Given the description of an element on the screen output the (x, y) to click on. 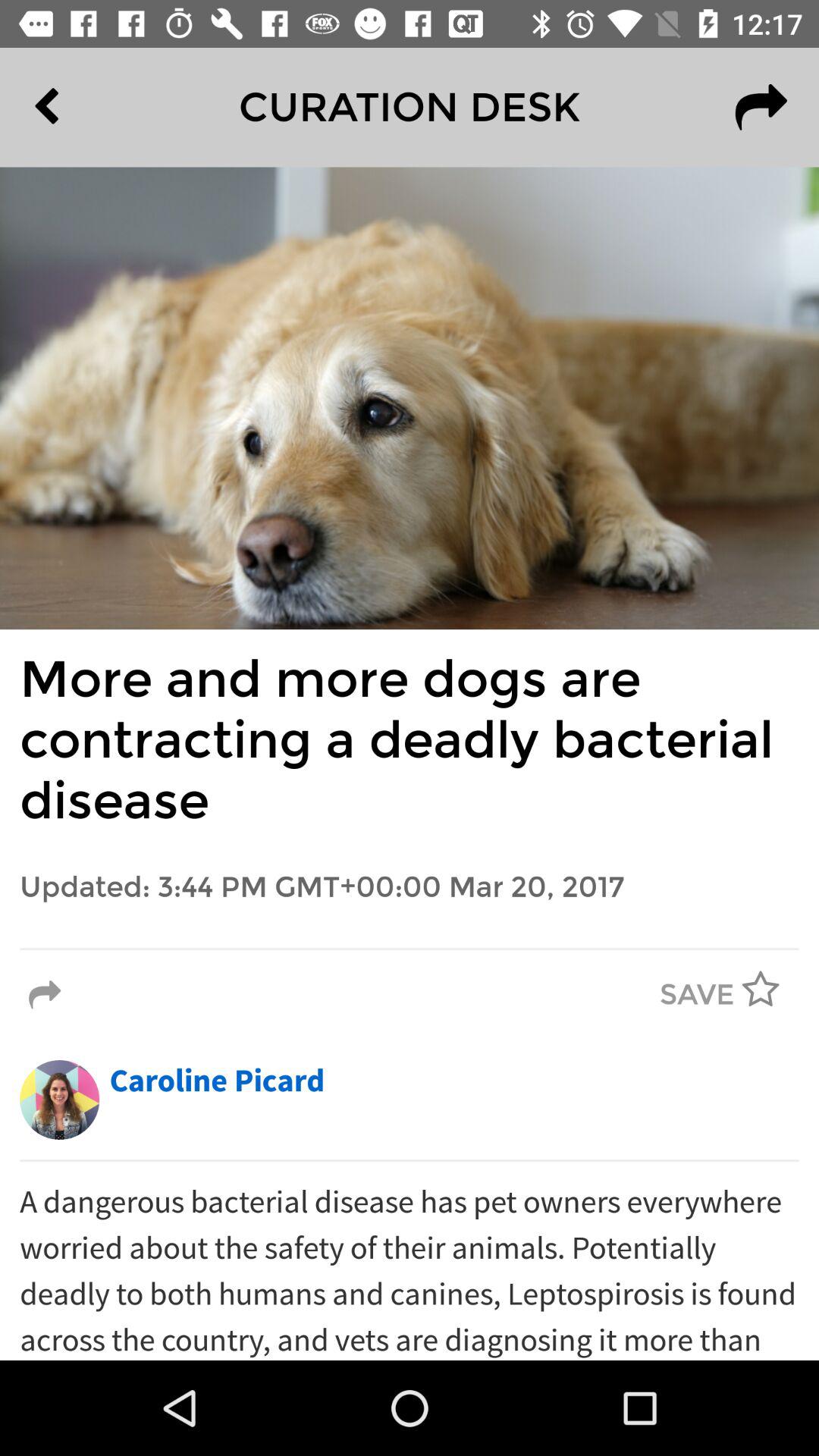
jump until more and more icon (409, 739)
